Given the description of an element on the screen output the (x, y) to click on. 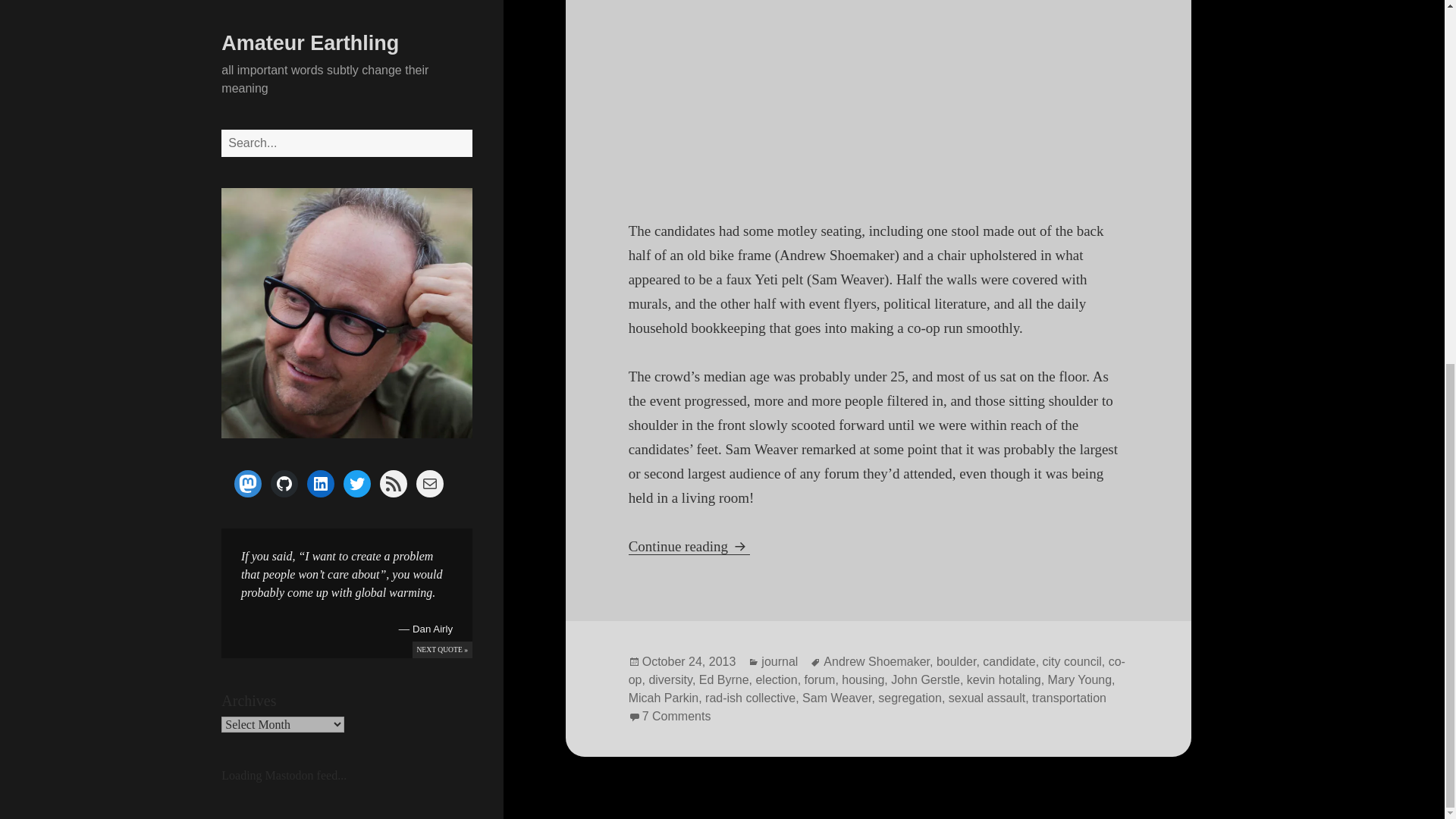
kevin hotaling (1003, 680)
transportation (1069, 698)
Micah Parkin (663, 698)
sexual assault (987, 698)
diversity (670, 680)
city council (1072, 662)
segregation (909, 698)
John Gerstle (925, 680)
rad-ish collective (749, 698)
Ed Byrne (723, 680)
